Given the description of an element on the screen output the (x, y) to click on. 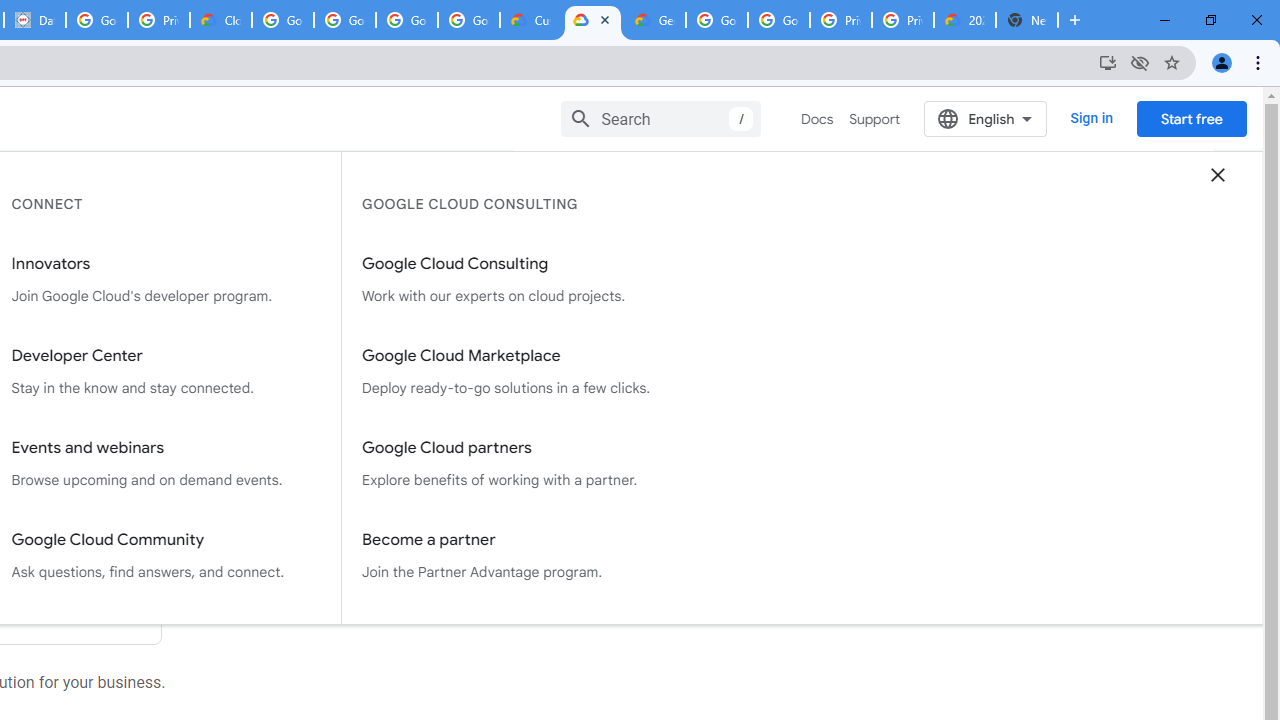
Chrome (1260, 62)
Sign in (1092, 118)
Start free (1191, 118)
Innovators Join Google Cloud's developer program. (166, 279)
Restore (1210, 20)
You (1221, 62)
Cloud Data Processing Addendum | Google Cloud (220, 20)
Minimize (1165, 20)
Gemini for Business and Developers | Google Cloud (654, 20)
Become a partner Join the Partner Advantage program. (517, 555)
